Given the description of an element on the screen output the (x, y) to click on. 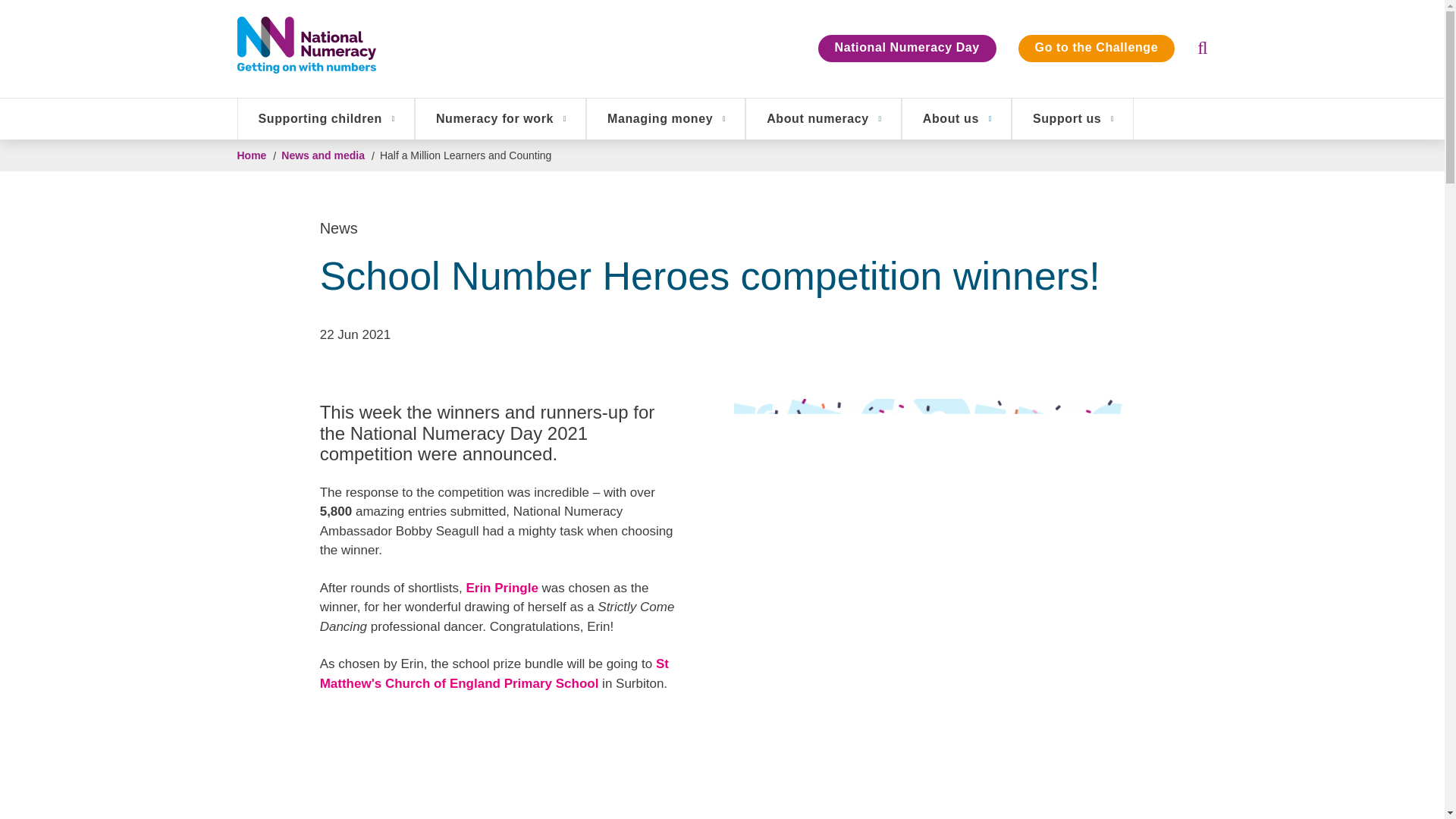
National Numeracy Day (906, 48)
Search (1155, 47)
About numeracy (823, 118)
Go to the Challenge (1095, 48)
Numeracy for work (499, 118)
Supporting children (325, 118)
Managing money (665, 118)
